Given the description of an element on the screen output the (x, y) to click on. 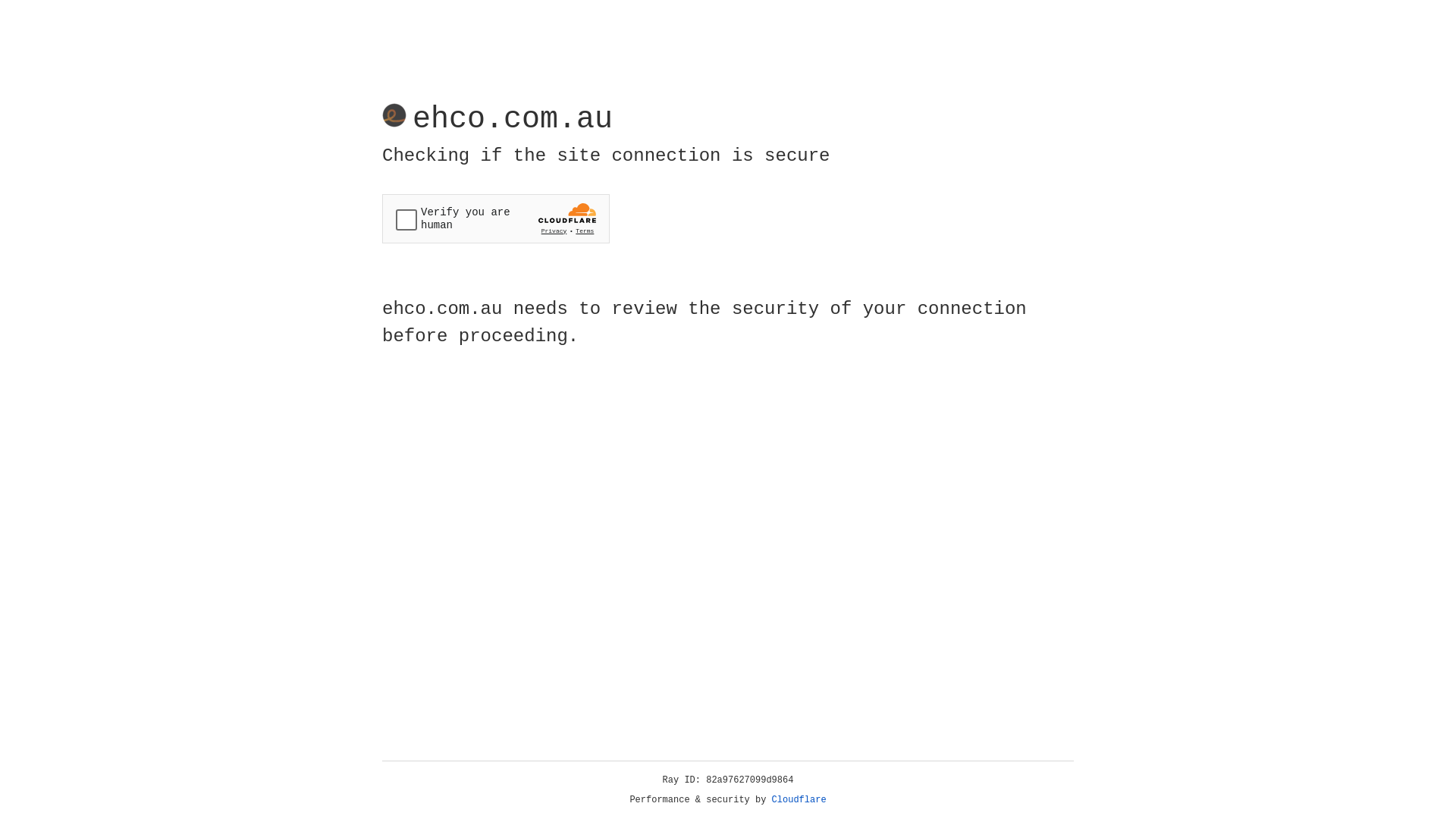
Cloudflare Element type: text (798, 799)
Widget containing a Cloudflare security challenge Element type: hover (495, 218)
